Given the description of an element on the screen output the (x, y) to click on. 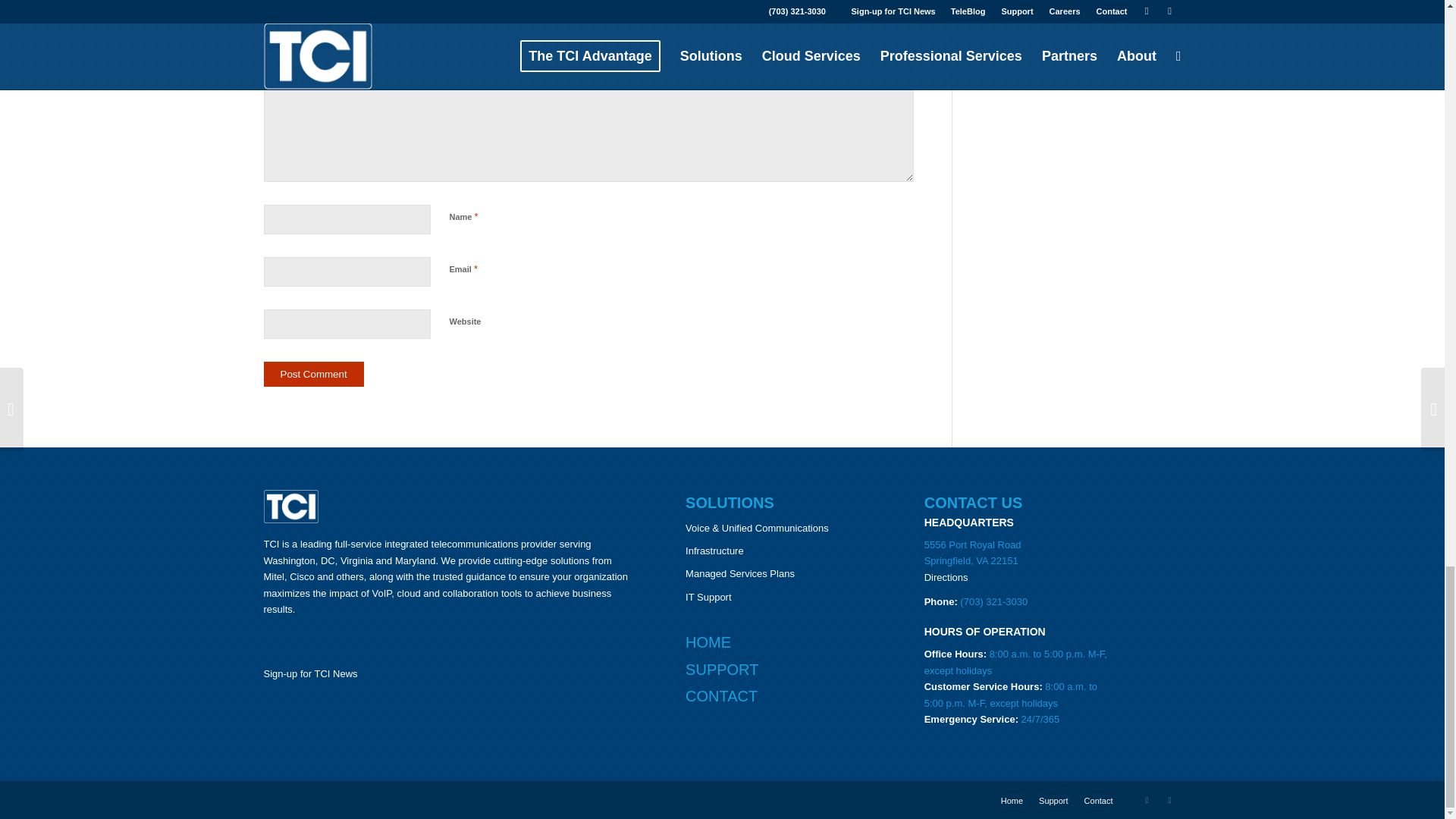
Post Comment (313, 373)
